Given the description of an element on the screen output the (x, y) to click on. 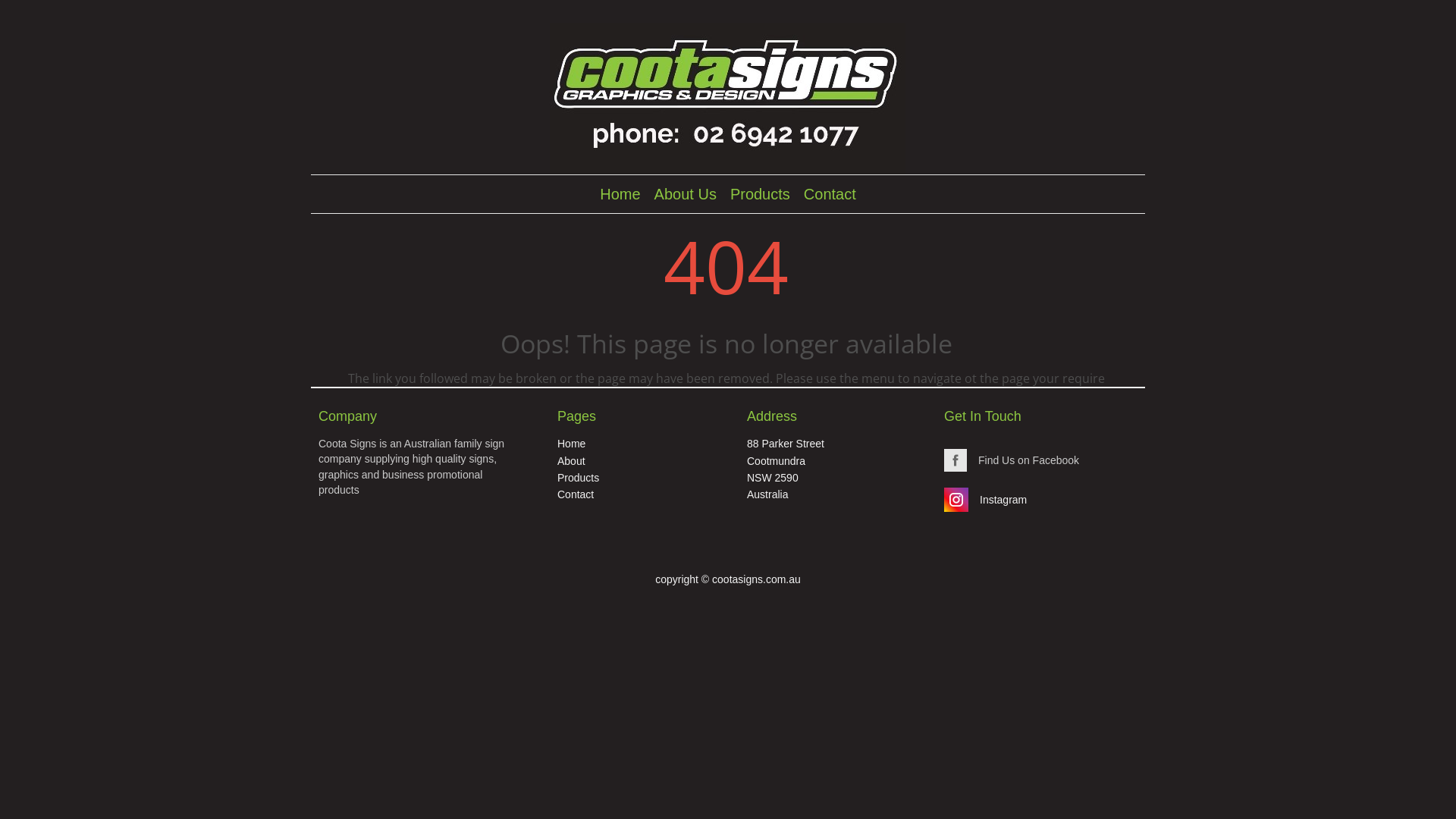
Home Element type: text (619, 194)
About Us Element type: text (685, 194)
Products Element type: text (760, 194)
Contact Element type: text (829, 194)
